Given the description of an element on the screen output the (x, y) to click on. 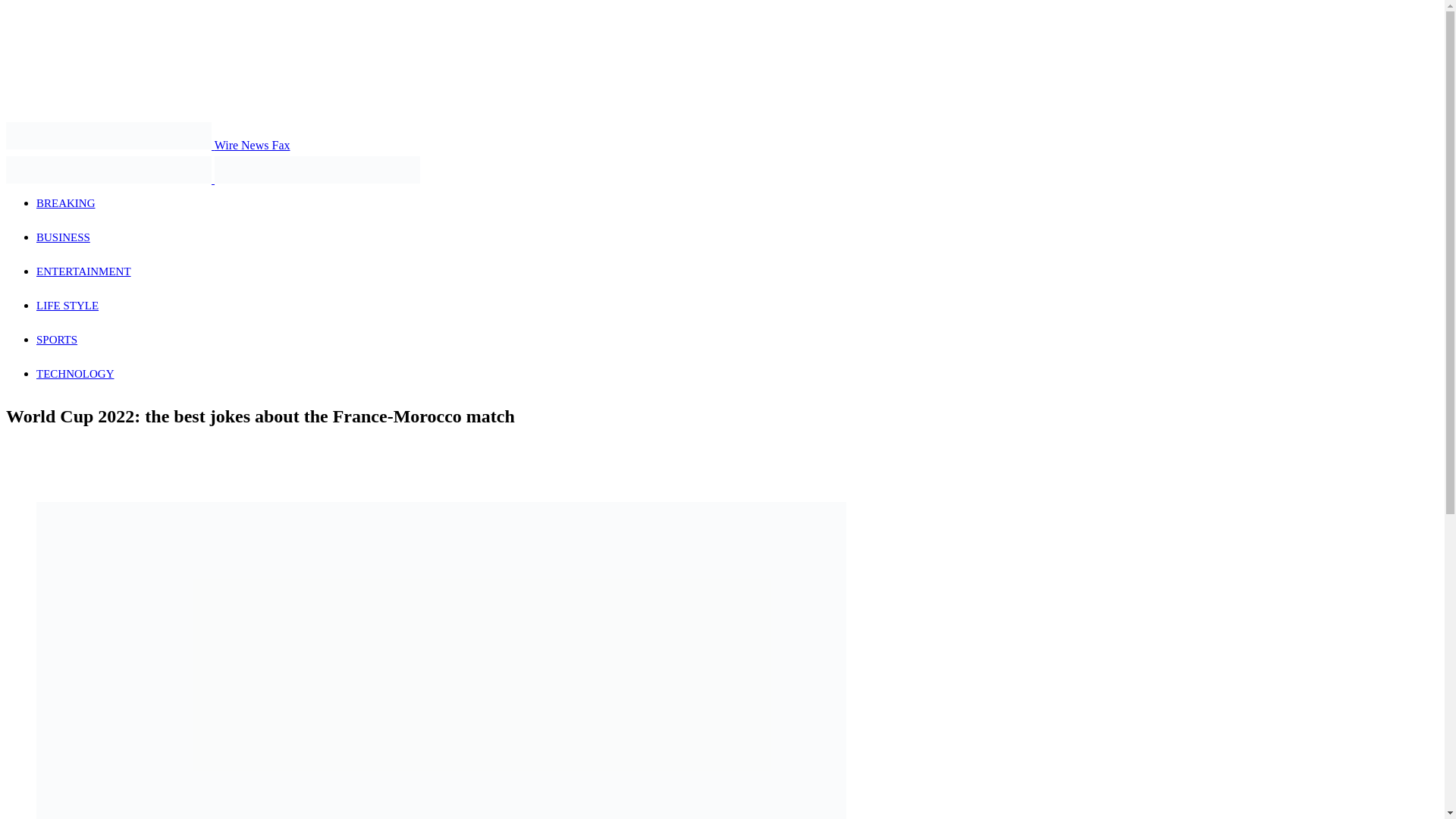
Your Fastest Source for Reliable News (108, 169)
SPORTS (56, 339)
ENTERTAINMENT (83, 271)
BREAKING (66, 203)
Your Fastest Source for Reliable News (108, 135)
LIFE STYLE (67, 305)
TECHNOLOGY (75, 373)
Your Fastest Source for Reliable News (317, 169)
Wire News Fax (147, 144)
BUSINESS (63, 236)
